Given the description of an element on the screen output the (x, y) to click on. 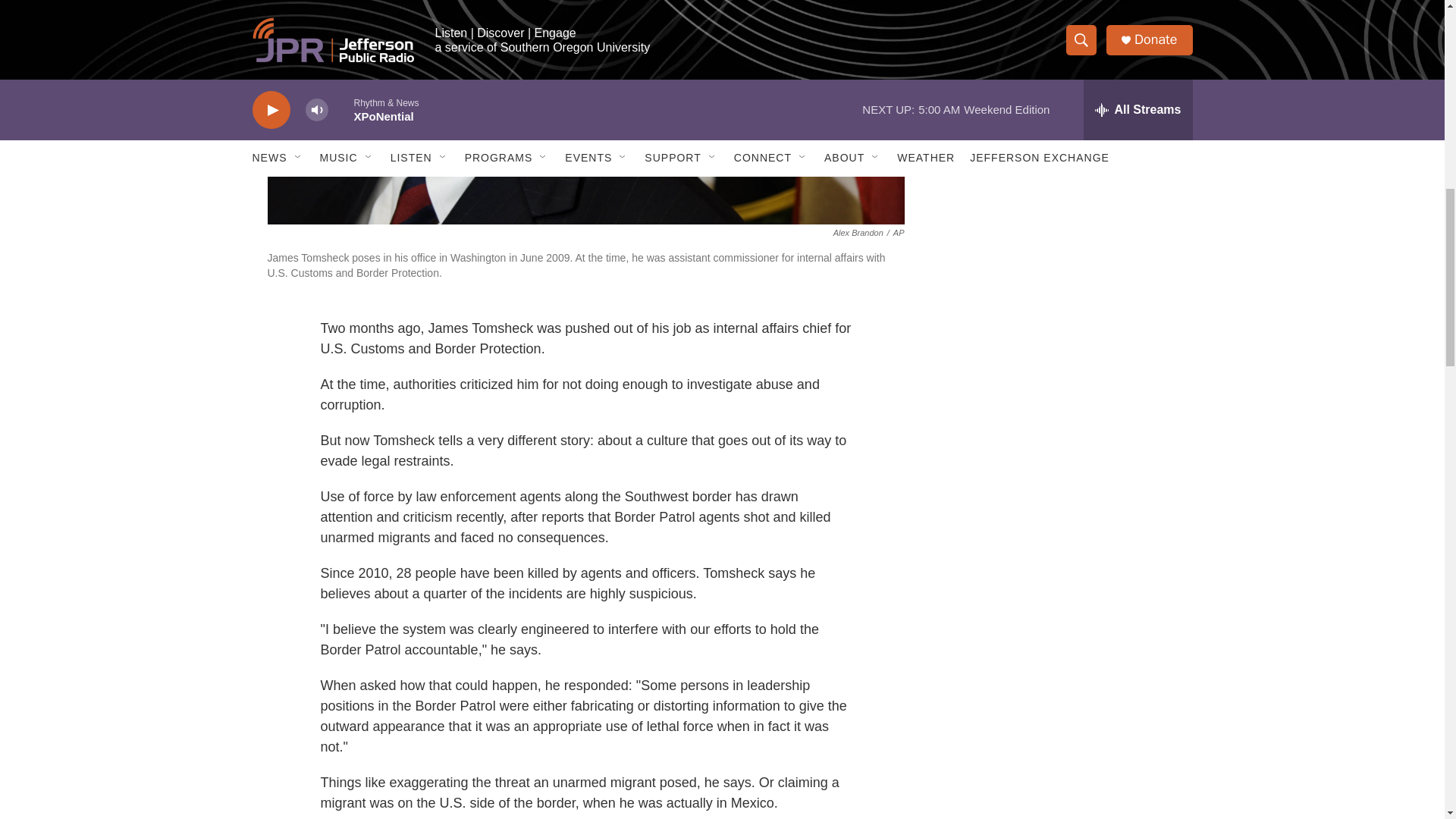
3rd party ad content (1062, 16)
